Given the description of an element on the screen output the (x, y) to click on. 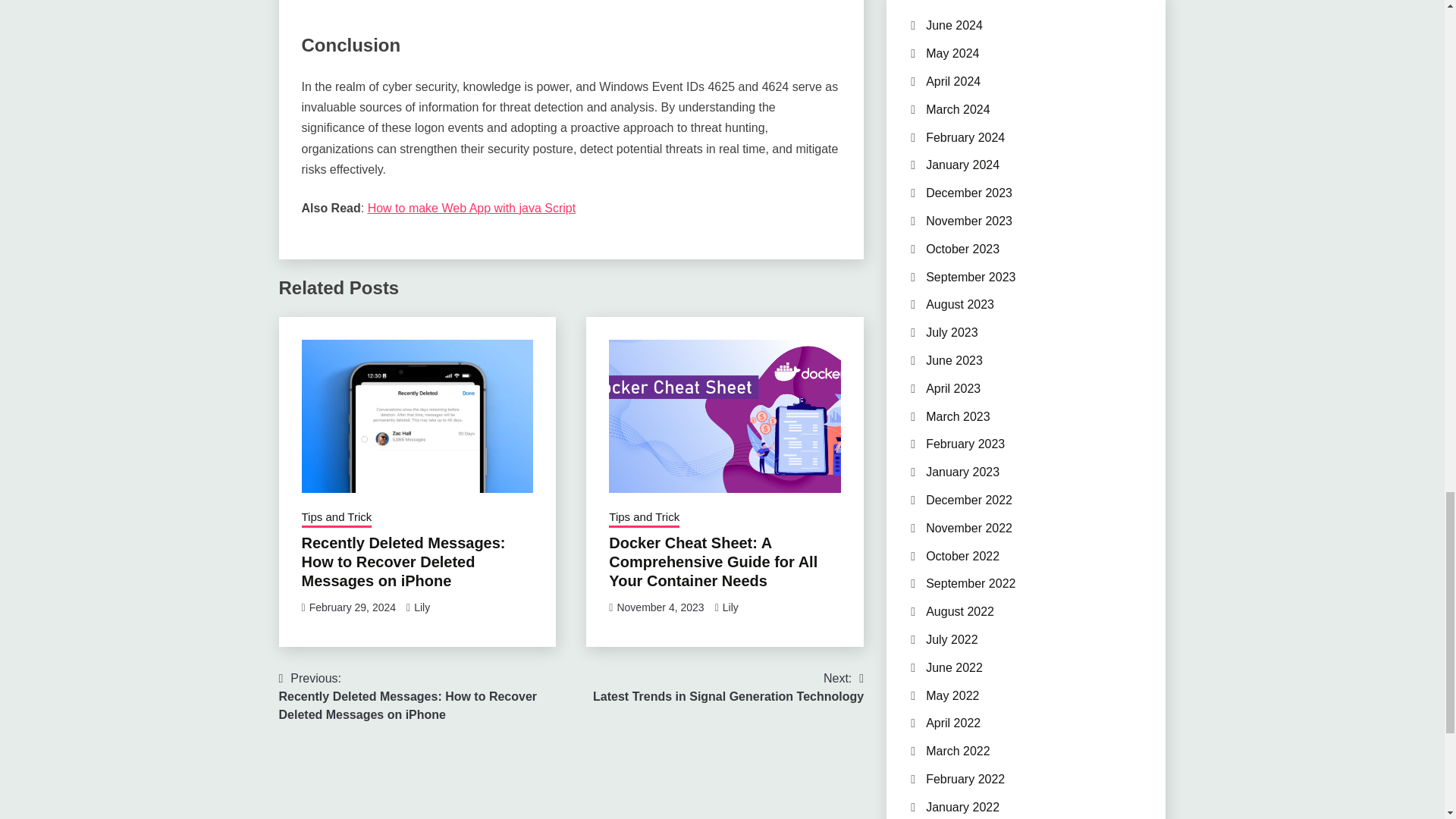
Lily (421, 607)
Tips and Trick (336, 518)
November 4, 2023 (659, 607)
February 29, 2024 (352, 607)
Tips and Trick (643, 518)
How to make Web App with java Script (472, 207)
Lily (727, 687)
